Given the description of an element on the screen output the (x, y) to click on. 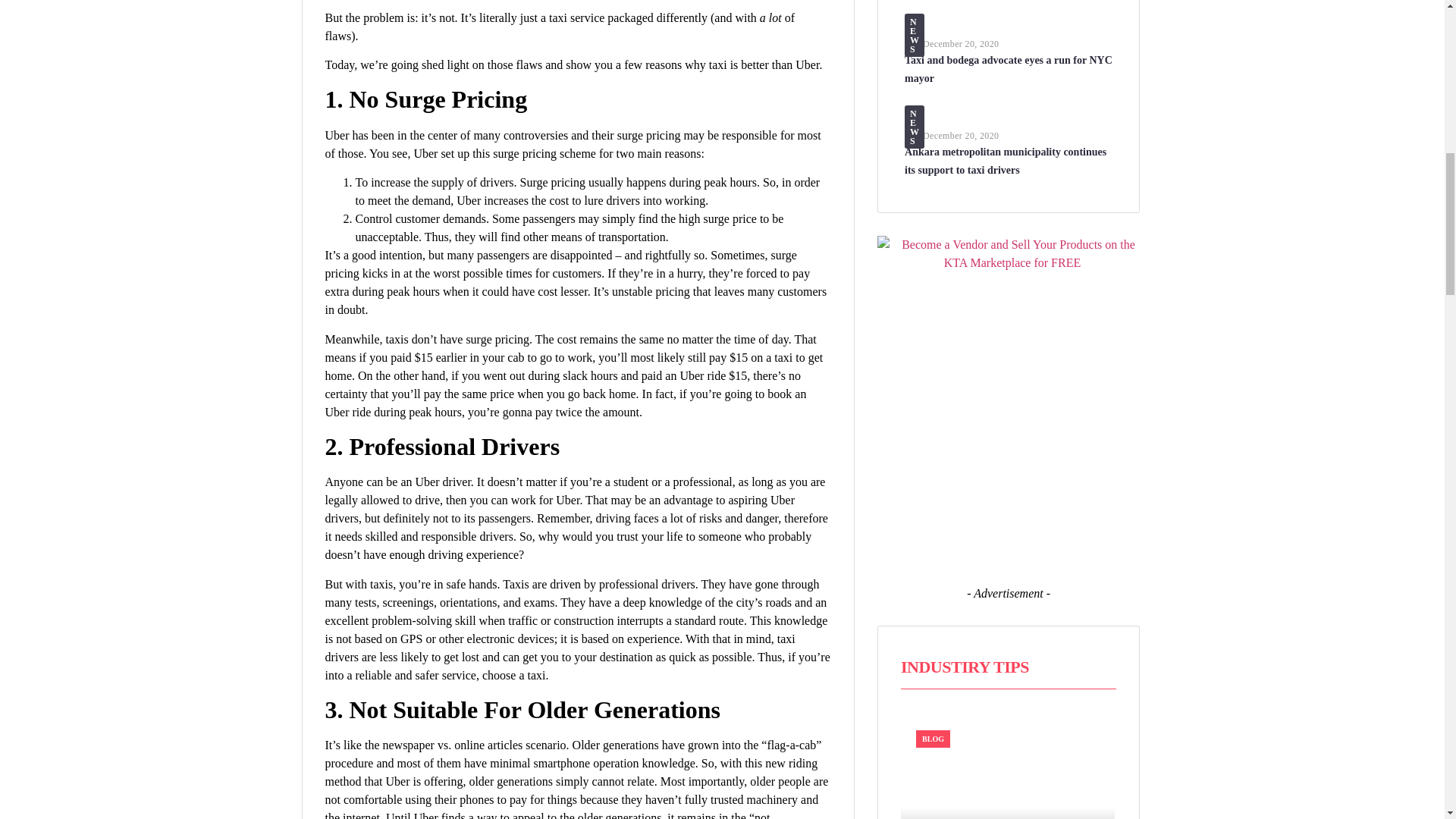
2020-12-20T20:27:58-06:00 (960, 43)
2020-12-20T19:57:22-06:00 (960, 135)
